Given the description of an element on the screen output the (x, y) to click on. 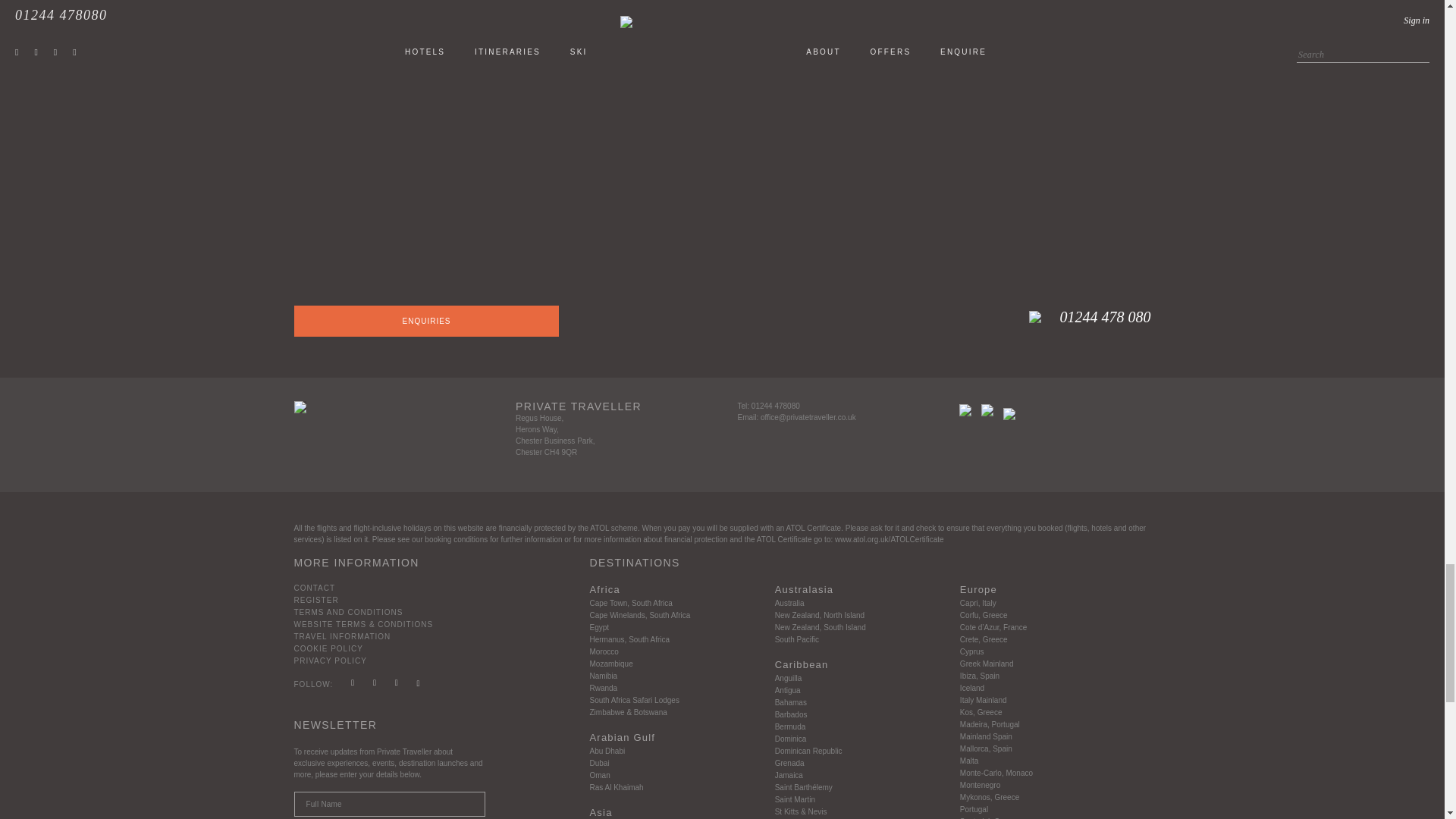
ATOL 11270 (986, 410)
BA Appointed Operator (1008, 413)
PTS Member No. 5547 (965, 410)
